Given the description of an element on the screen output the (x, y) to click on. 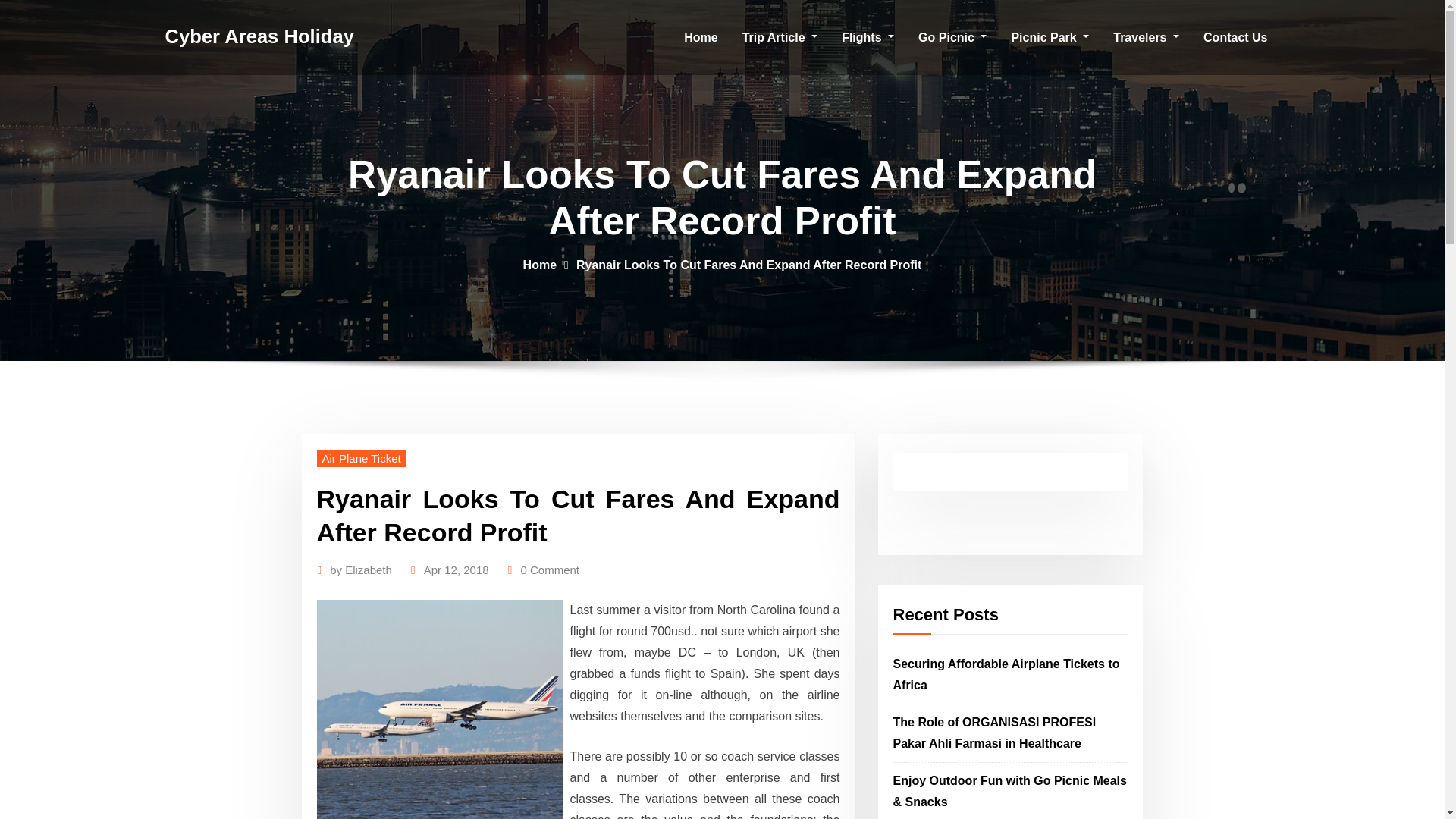
Ryanair Looks To Cut Fares And Expand After Record Profit (748, 264)
Contact Us (1235, 37)
Picnic Park (1049, 37)
0 Comment (549, 569)
Flights (867, 37)
Apr 12, 2018 (456, 569)
Trip Article (779, 37)
Cyber Areas Holiday (259, 35)
Air Plane Ticket (361, 457)
Home (539, 264)
